Given the description of an element on the screen output the (x, y) to click on. 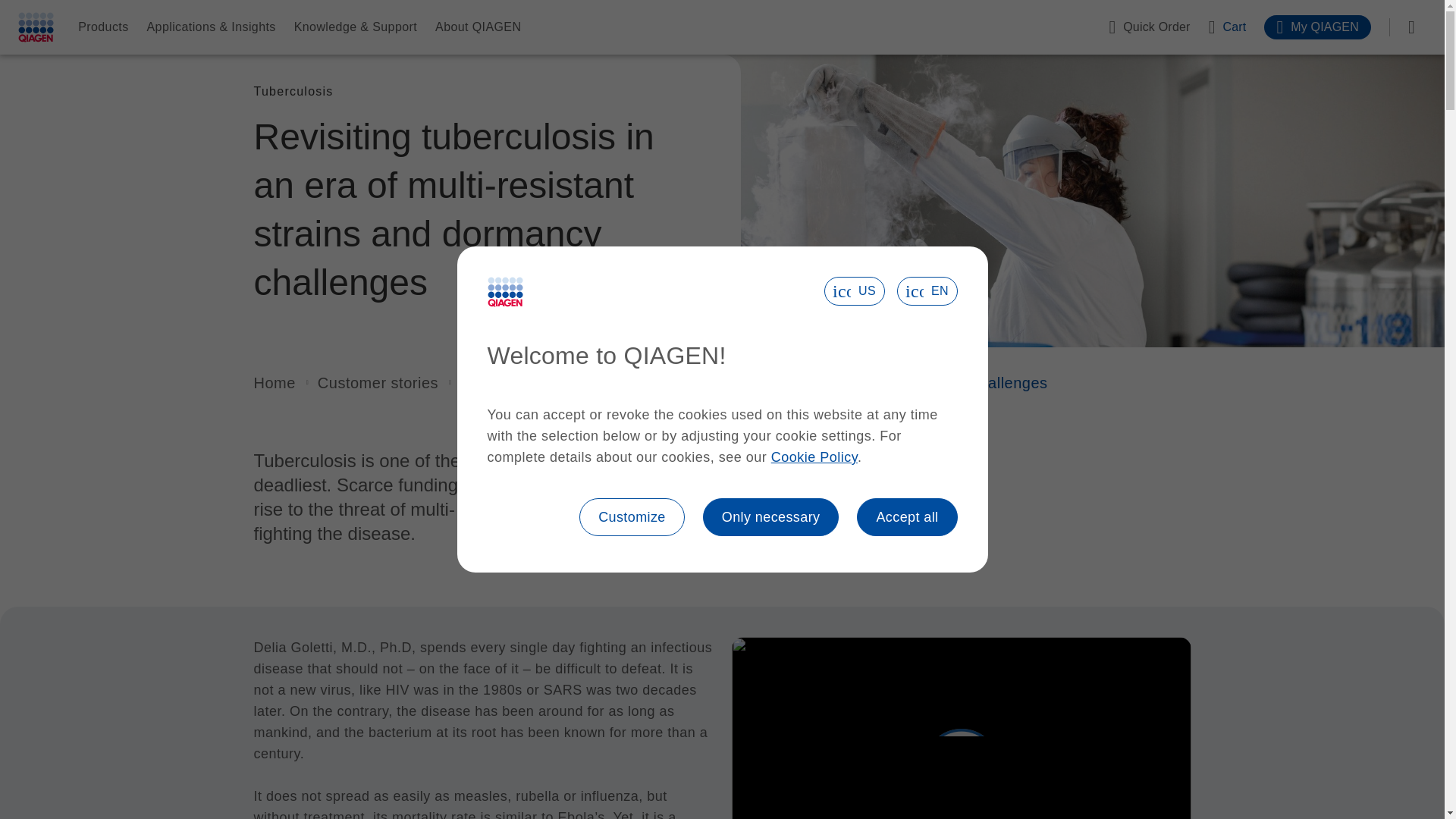
Home (274, 382)
Only necessary (771, 516)
Customize (631, 516)
Quick Order (1148, 27)
Customer stories (377, 382)
Cookie Policy (814, 457)
Accept all (906, 516)
Products (103, 27)
About QIAGEN (478, 27)
Cart (1227, 27)
Products (103, 27)
Home (274, 382)
Customer stories (377, 382)
Cart (1227, 27)
